Given the description of an element on the screen output the (x, y) to click on. 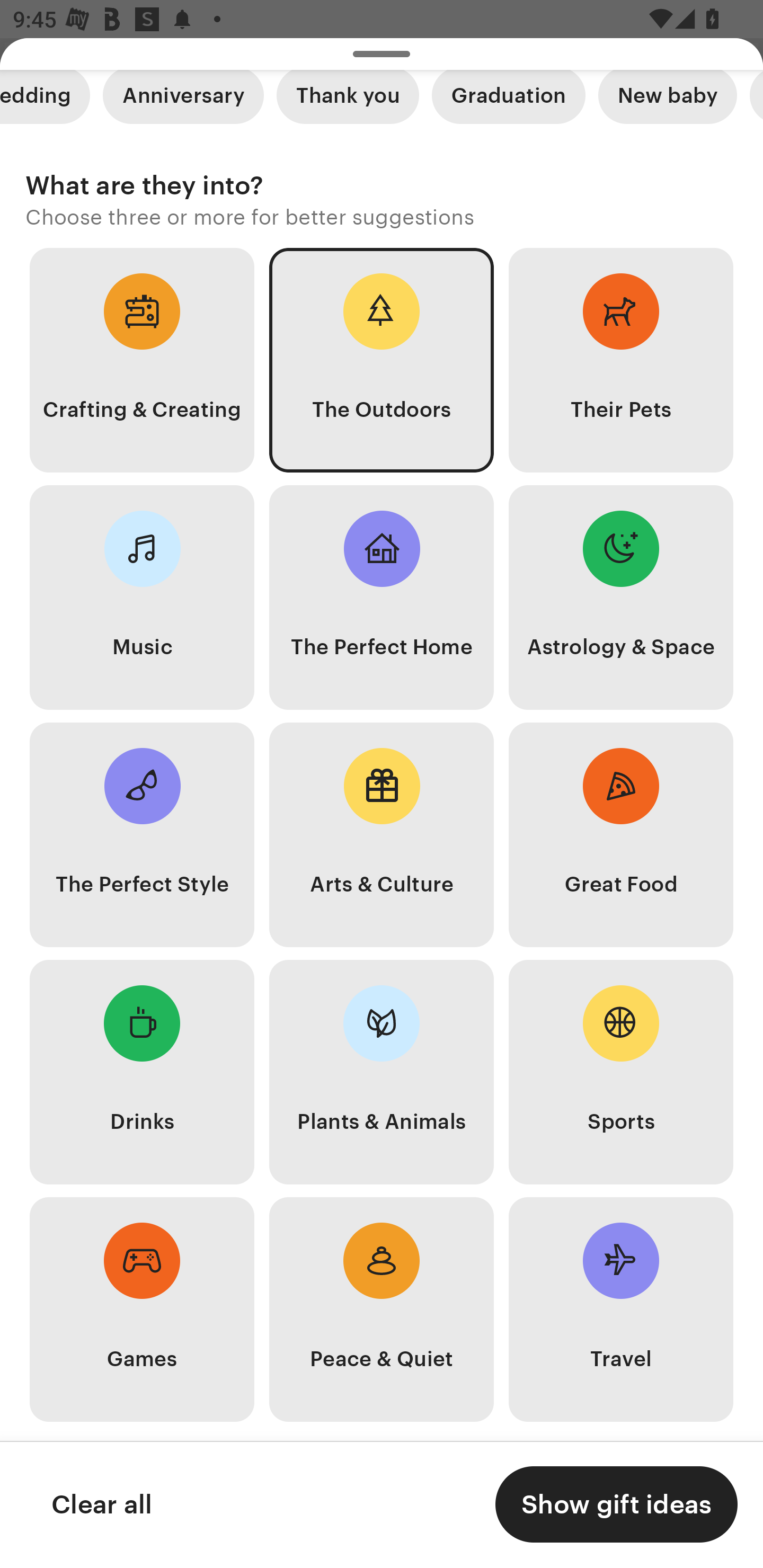
Anniversary (183, 101)
Thank you (347, 101)
Graduation (508, 101)
New baby (667, 101)
Crafting & Creating (141, 359)
The Outdoors (381, 359)
Their Pets (620, 359)
Music (141, 597)
The Perfect Home (381, 597)
Astrology & Space (620, 597)
The Perfect Style (141, 834)
Arts & Culture (381, 834)
Great Food (620, 834)
Drinks (141, 1071)
Plants & Animals (381, 1071)
Sports (620, 1071)
Games (141, 1309)
Peace & Quiet (381, 1309)
Travel (620, 1309)
Clear all (101, 1504)
Show gift ideas (616, 1504)
